Given the description of an element on the screen output the (x, y) to click on. 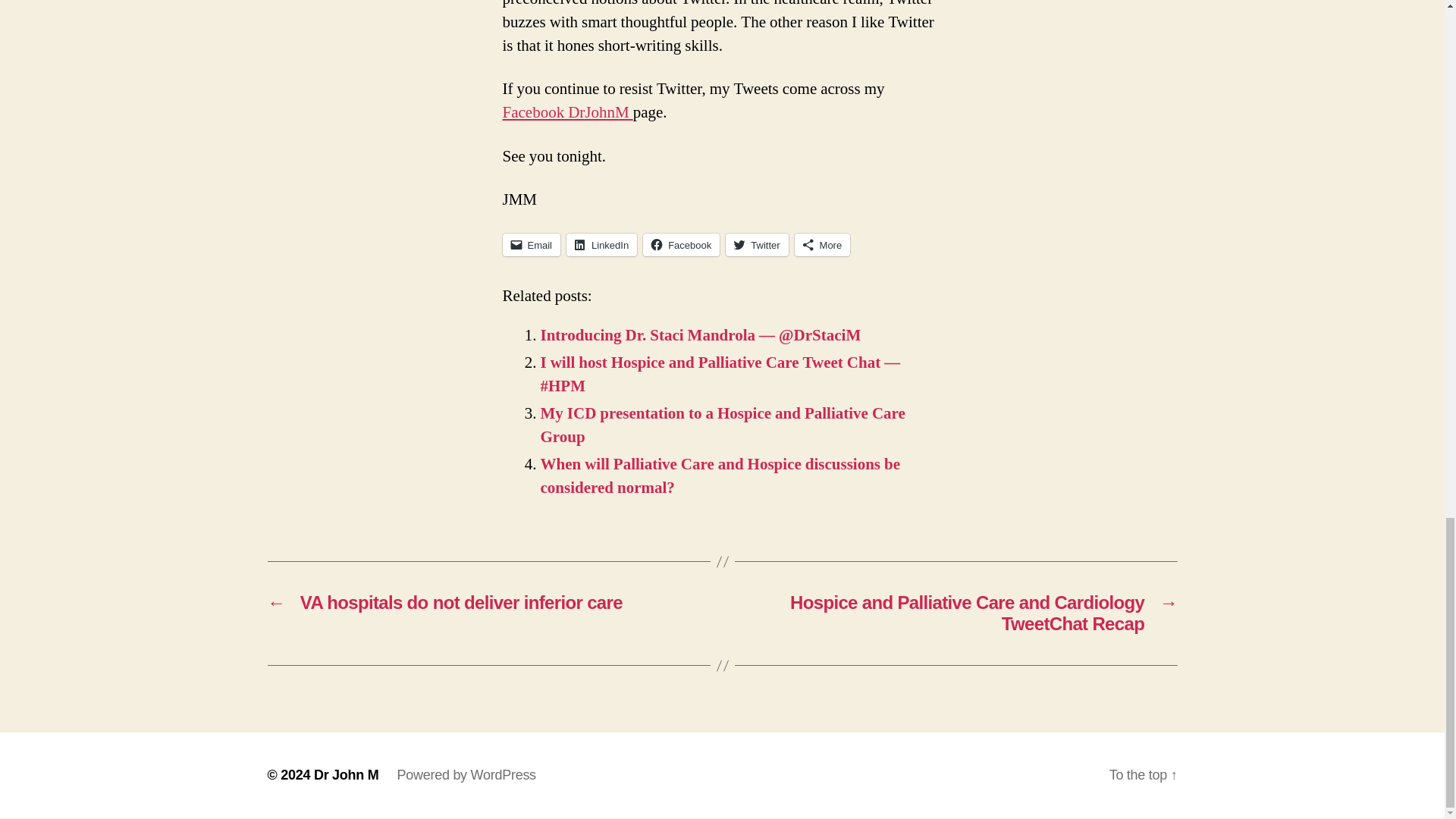
Click to email a link to a friend (531, 244)
Click to share on Twitter (756, 244)
Click to share on Facebook (681, 244)
Click to share on LinkedIn (601, 244)
My ICD presentation to a Hospice and Palliative Care Group (722, 425)
